Given the description of an element on the screen output the (x, y) to click on. 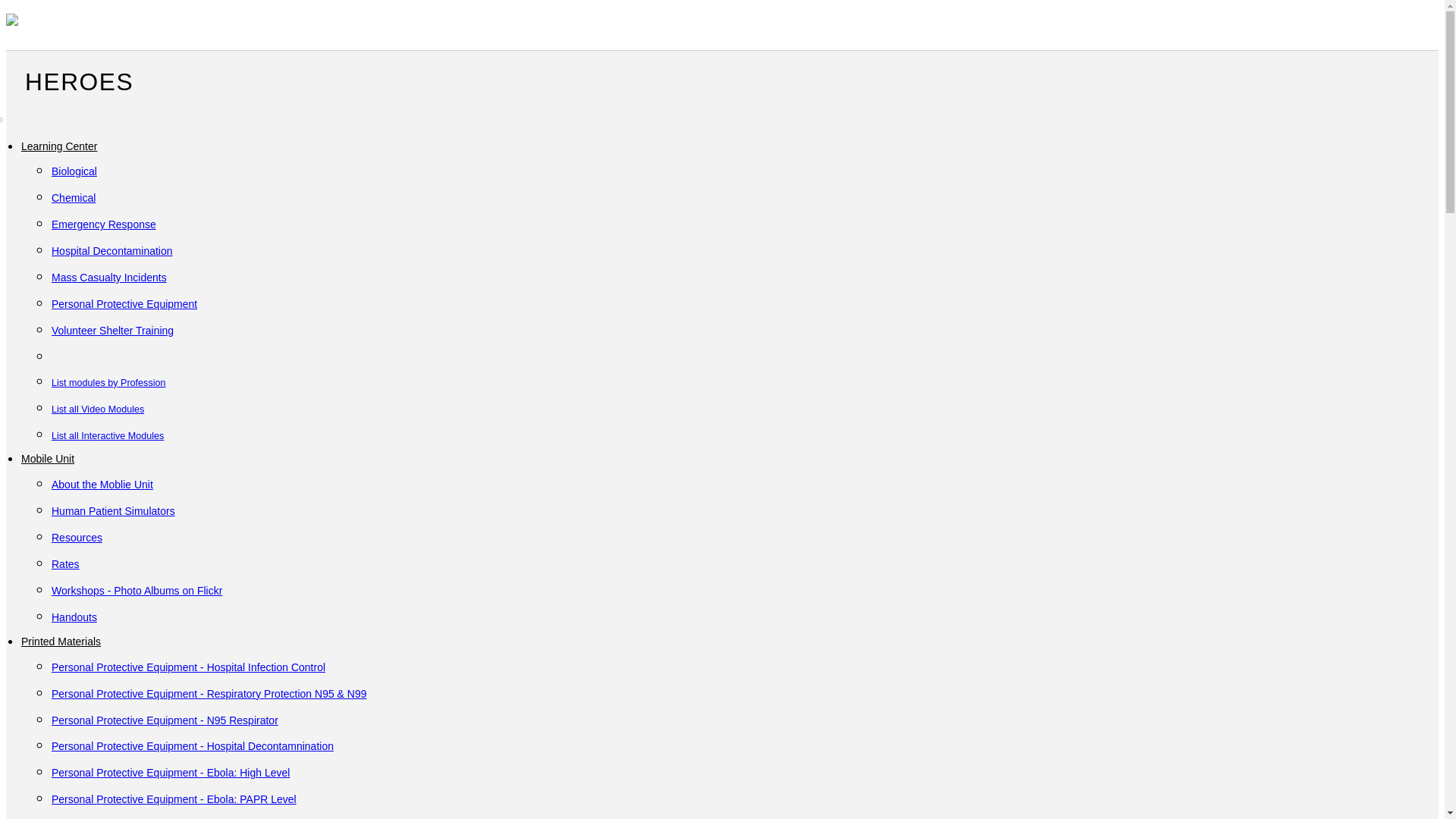
Rates (65, 563)
Learning Center (59, 146)
Personal Protective Equipment - N95 Respirator (164, 720)
List modules by Profession (107, 381)
Workshops - Photo Albums on Flickr (136, 590)
Volunteer Shelter Training (111, 330)
List all Video Modules (97, 408)
HEROES (69, 81)
Mobile Unit (47, 458)
Personal Protective Equipment - Ebola: PAPR Level (173, 799)
Personal Protective Equipment - Ebola: High Level (169, 772)
Handouts (73, 616)
Printed Materials (60, 641)
Personal Protective Equipment - Hospital Infection Control (187, 666)
Resources (75, 537)
